Given the description of an element on the screen output the (x, y) to click on. 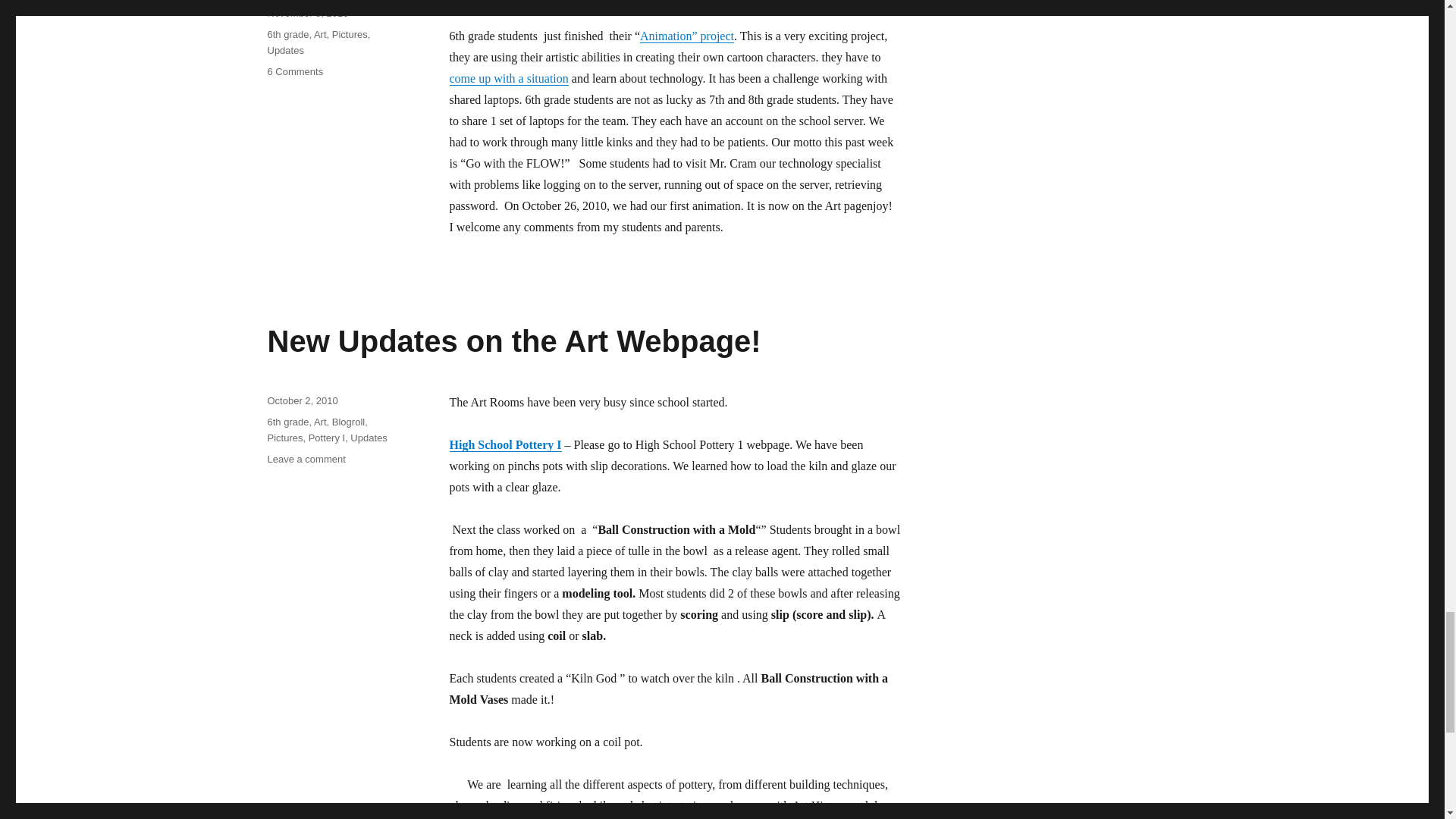
Animation (686, 35)
High School Pottery I (504, 444)
working (507, 78)
